Given the description of an element on the screen output the (x, y) to click on. 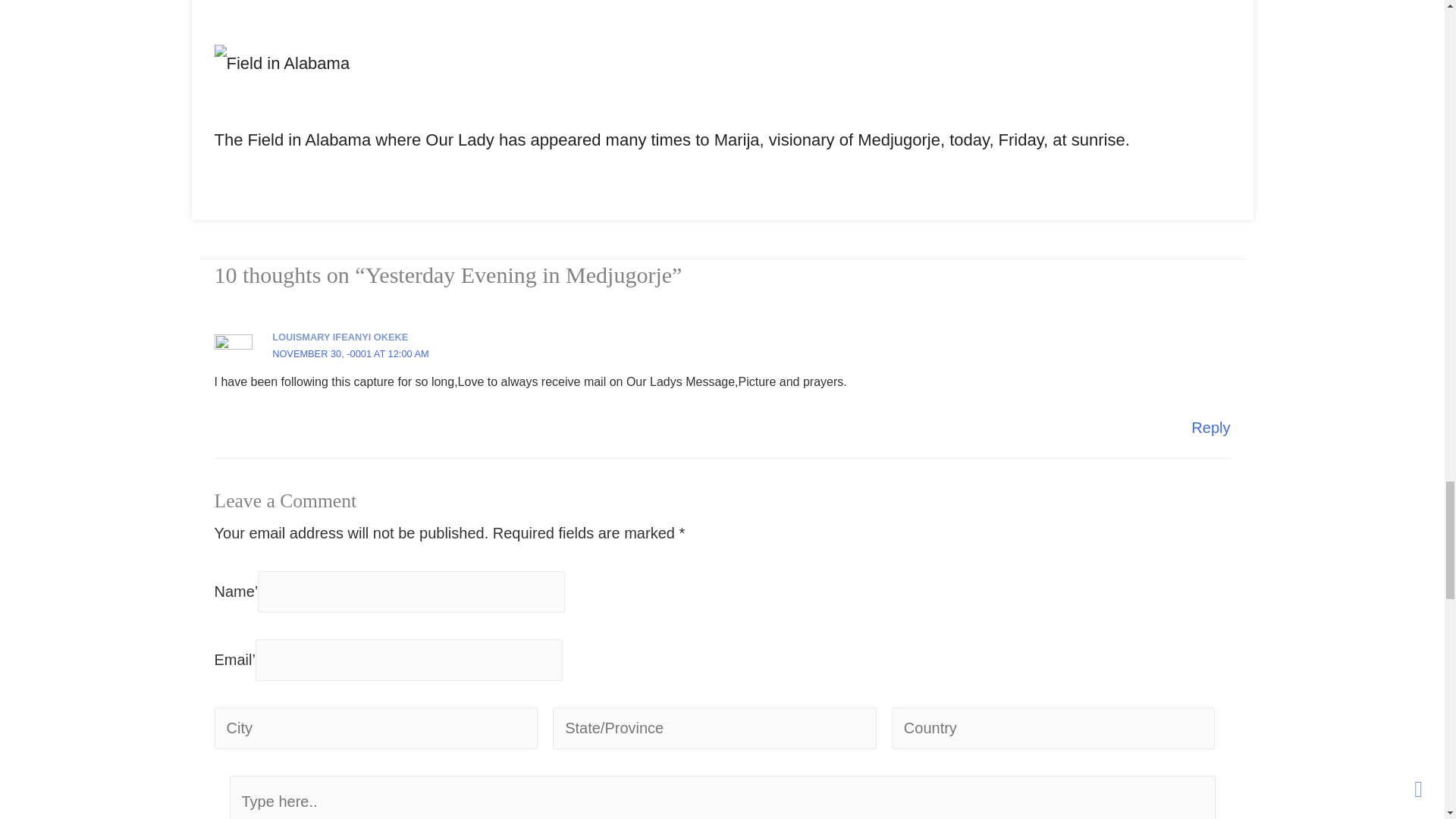
NOVEMBER 30, -0001 AT 12:00 AM (350, 353)
Reply (1210, 427)
